Given the description of an element on the screen output the (x, y) to click on. 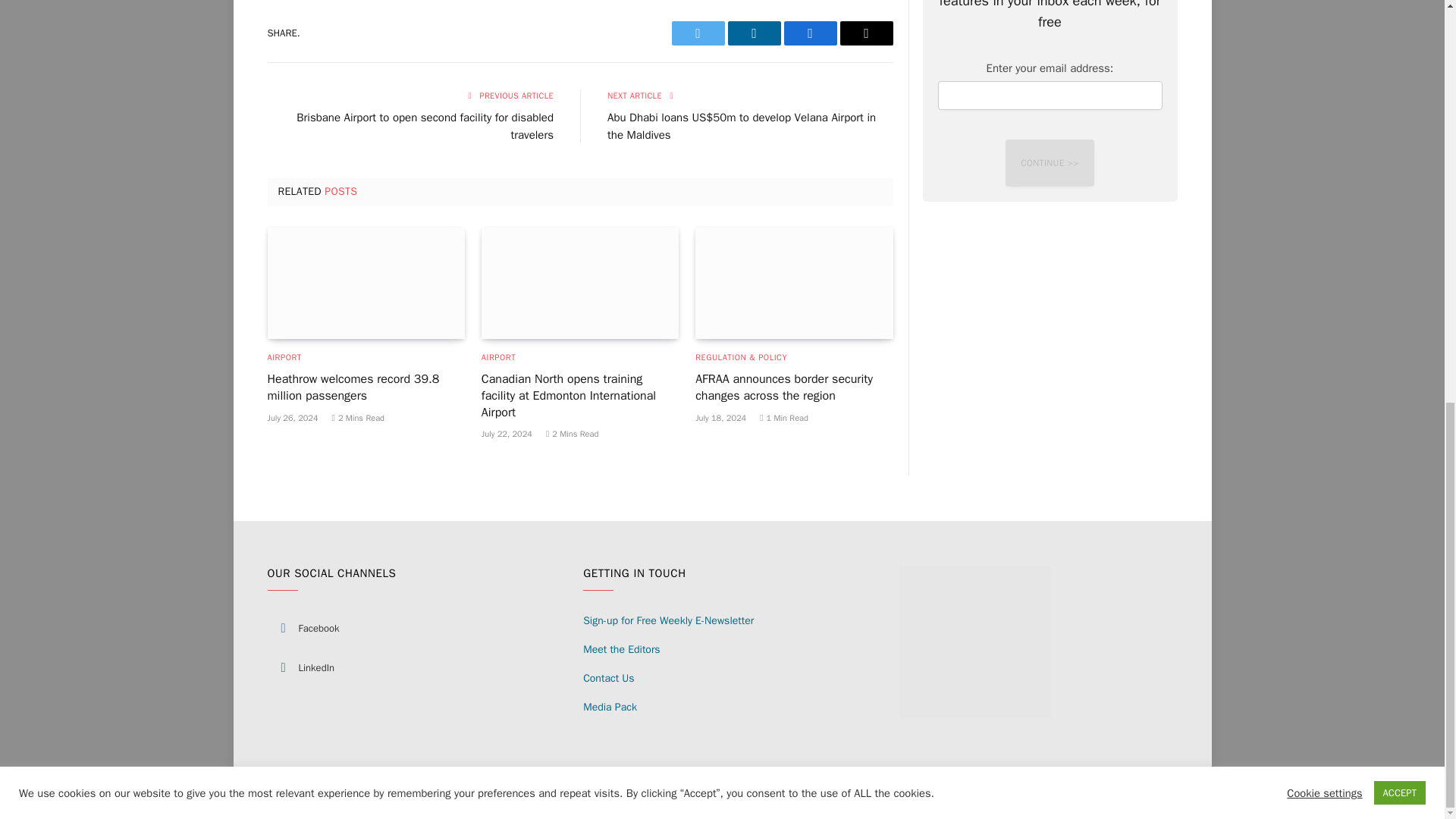
AFRAA announces border security changes across the region (793, 282)
Heathrow welcomes record 39.8 million passengers (365, 282)
Share on Facebook (810, 33)
Share on LinkedIn (754, 33)
Share via Email (866, 33)
